Given the description of an element on the screen output the (x, y) to click on. 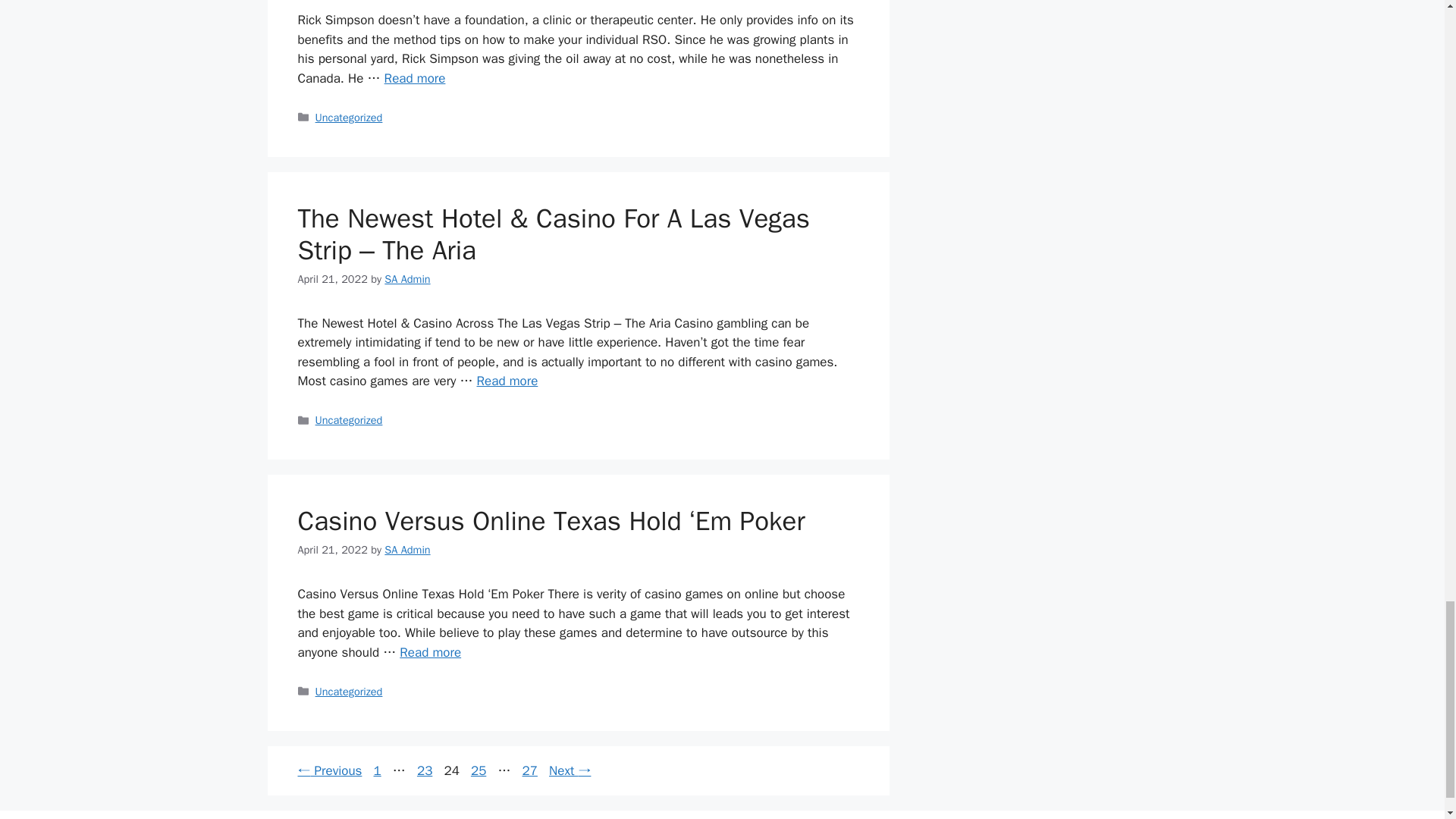
Read more (507, 381)
Uncategorized (348, 117)
Dr Greenthumb Seeds, Canada (414, 78)
View all posts by SA Admin (406, 549)
SA Admin (406, 278)
Read more (414, 78)
View all posts by SA Admin (406, 278)
